Given the description of an element on the screen output the (x, y) to click on. 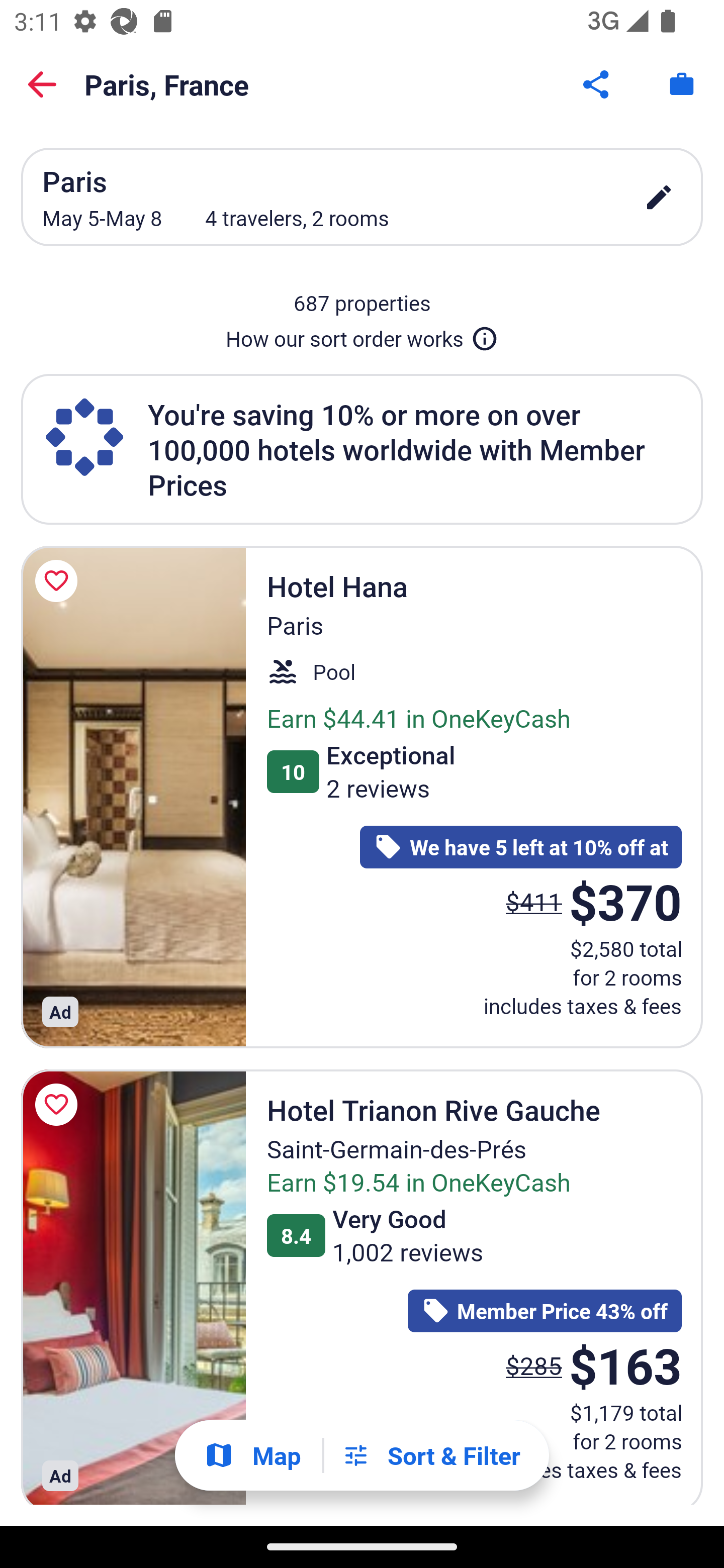
Back (42, 84)
Share Button (597, 84)
Trips. Button (681, 84)
Paris May 5-May 8 4 travelers, 2 rooms edit (361, 196)
How our sort order works (361, 334)
Save Hotel Hana to a trip (59, 580)
Hotel Hana (133, 796)
$411 The price was $411 (533, 901)
Save Hotel Trianon Rive Gauche to a trip (59, 1104)
Hotel Trianon Rive Gauche (133, 1287)
$285 The price was $285 (533, 1365)
Filters Sort & Filter Filters Button (430, 1455)
Show map Map Show map Button (252, 1455)
